Given the description of an element on the screen output the (x, y) to click on. 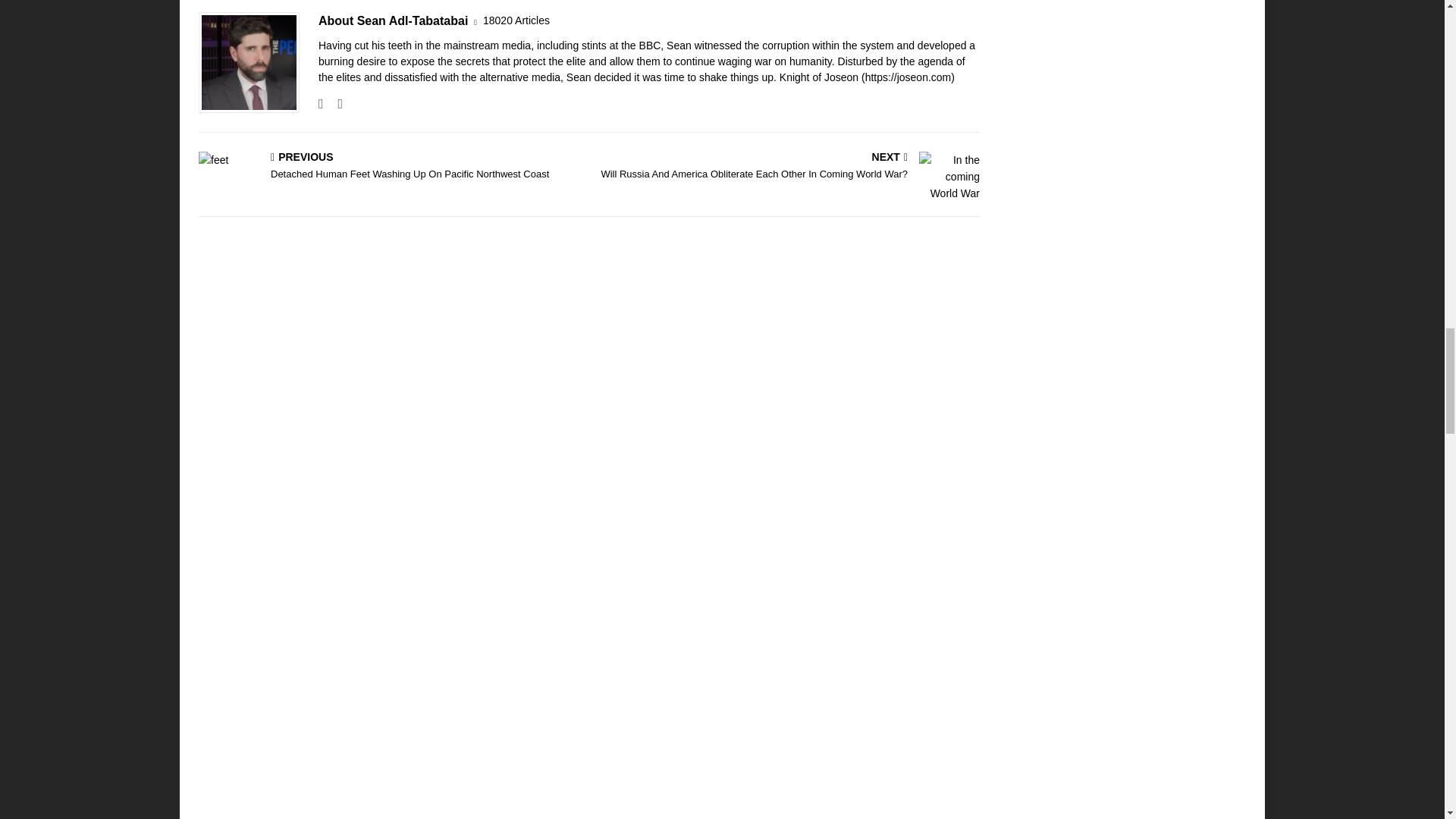
Follow Sean Adl-Tabatabai on Facebook (320, 103)
Follow Sean Adl-Tabatabai on Twitter (334, 103)
More articles written by Sean Adl-Tabatabai' (516, 20)
